Given the description of an element on the screen output the (x, y) to click on. 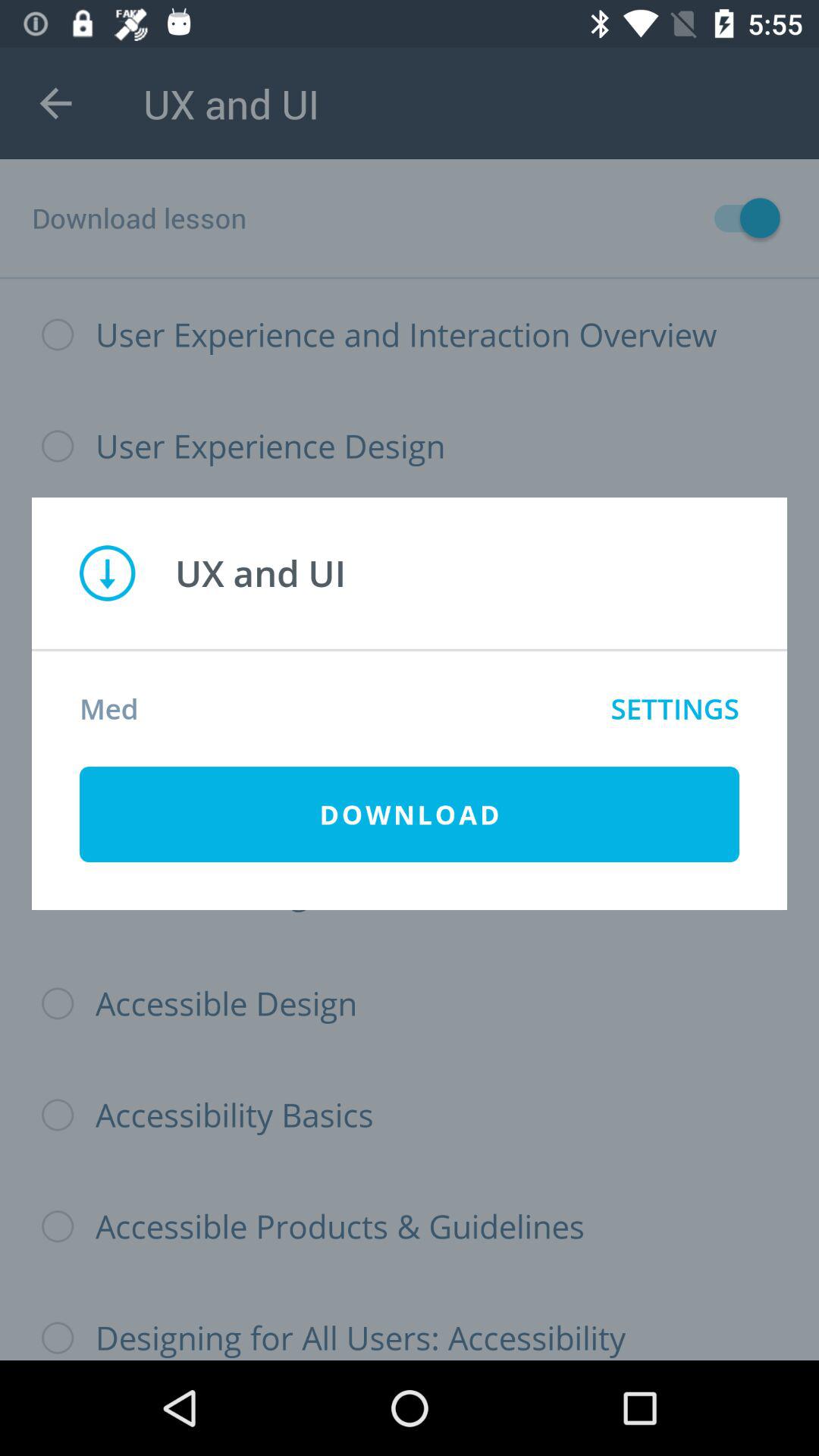
click the settings on the right (674, 708)
